Given the description of an element on the screen output the (x, y) to click on. 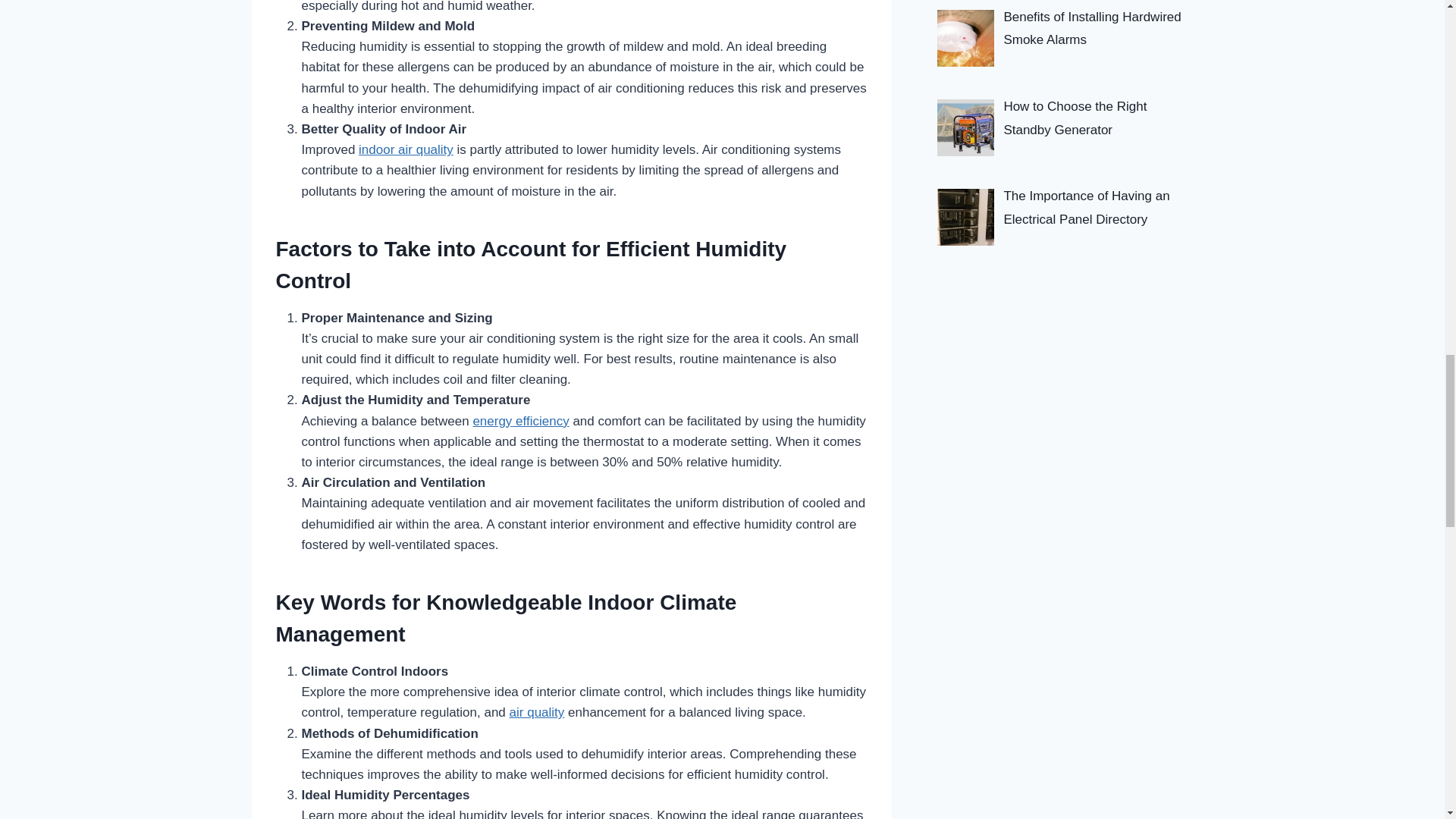
energy efficiency (520, 421)
indoor air quality (405, 149)
air quality (536, 712)
